Given the description of an element on the screen output the (x, y) to click on. 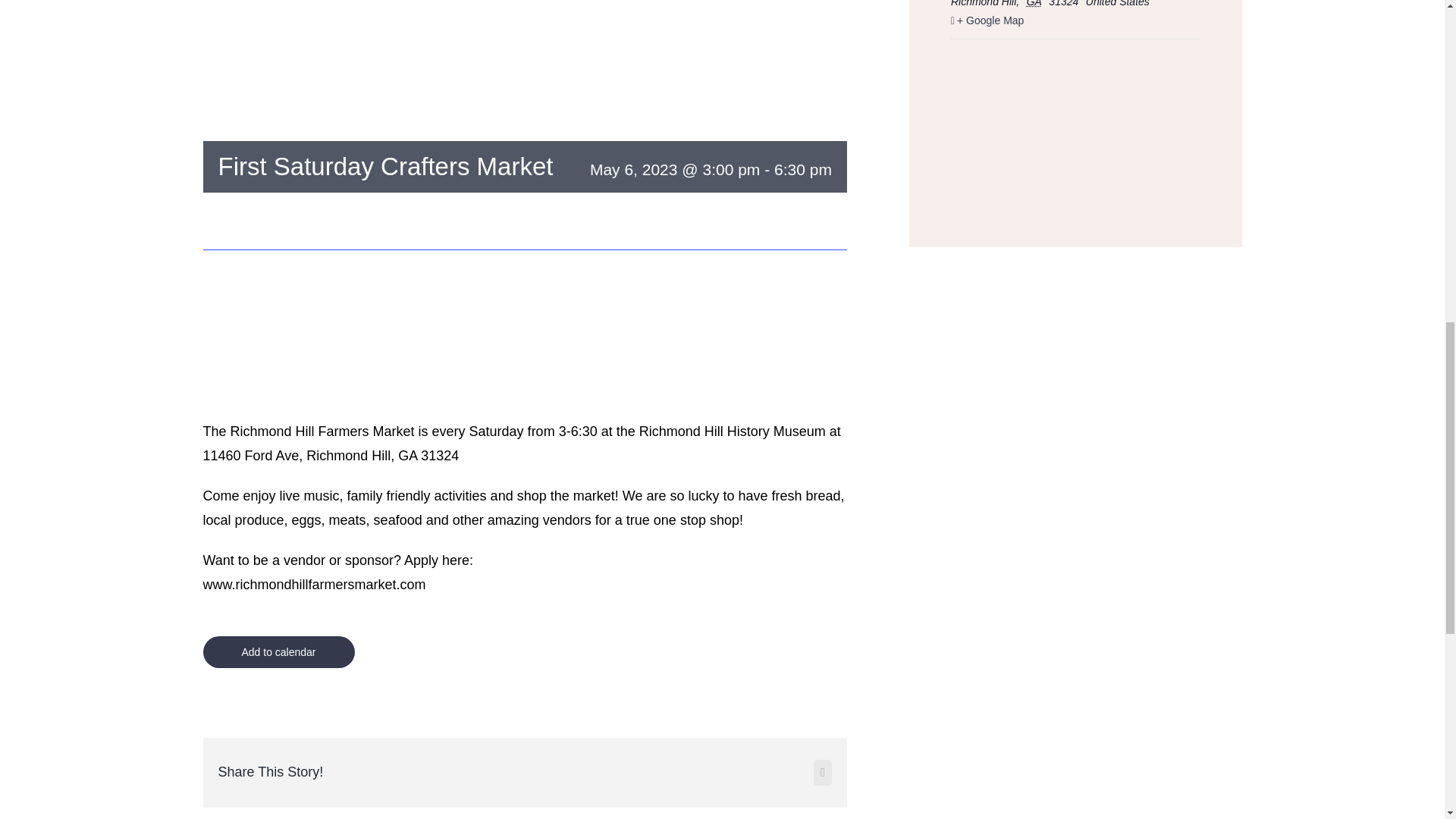
Click to view a Google Map (1074, 20)
